Given the description of an element on the screen output the (x, y) to click on. 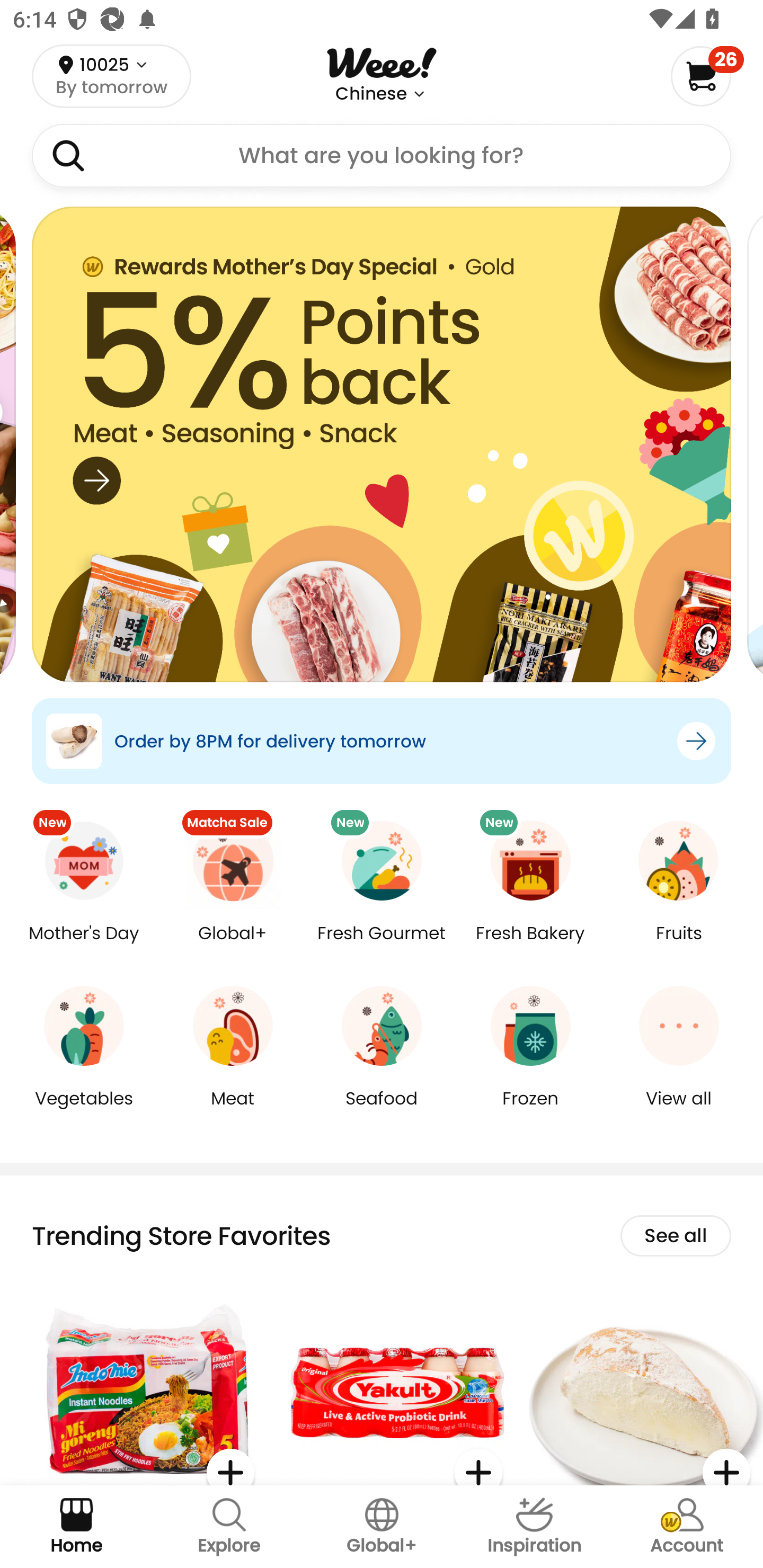
10025 By tomorrow (111, 75)
26 (706, 75)
Chinese (370, 93)
What are you looking for? (381, 155)
Order by 8PM for delivery tomorrow (381, 740)
Mother's Day (83, 946)
Global+ (232, 946)
Fresh Gourmet (381, 946)
Fresh Bakery (530, 946)
Fruits (678, 946)
Vegetables (83, 1111)
Meat (232, 1111)
Seafood (381, 1111)
Frozen (530, 1111)
View all (678, 1111)
Home (76, 1526)
Explore (228, 1526)
Global+ (381, 1526)
Inspiration (533, 1526)
Account (686, 1526)
